Given the description of an element on the screen output the (x, y) to click on. 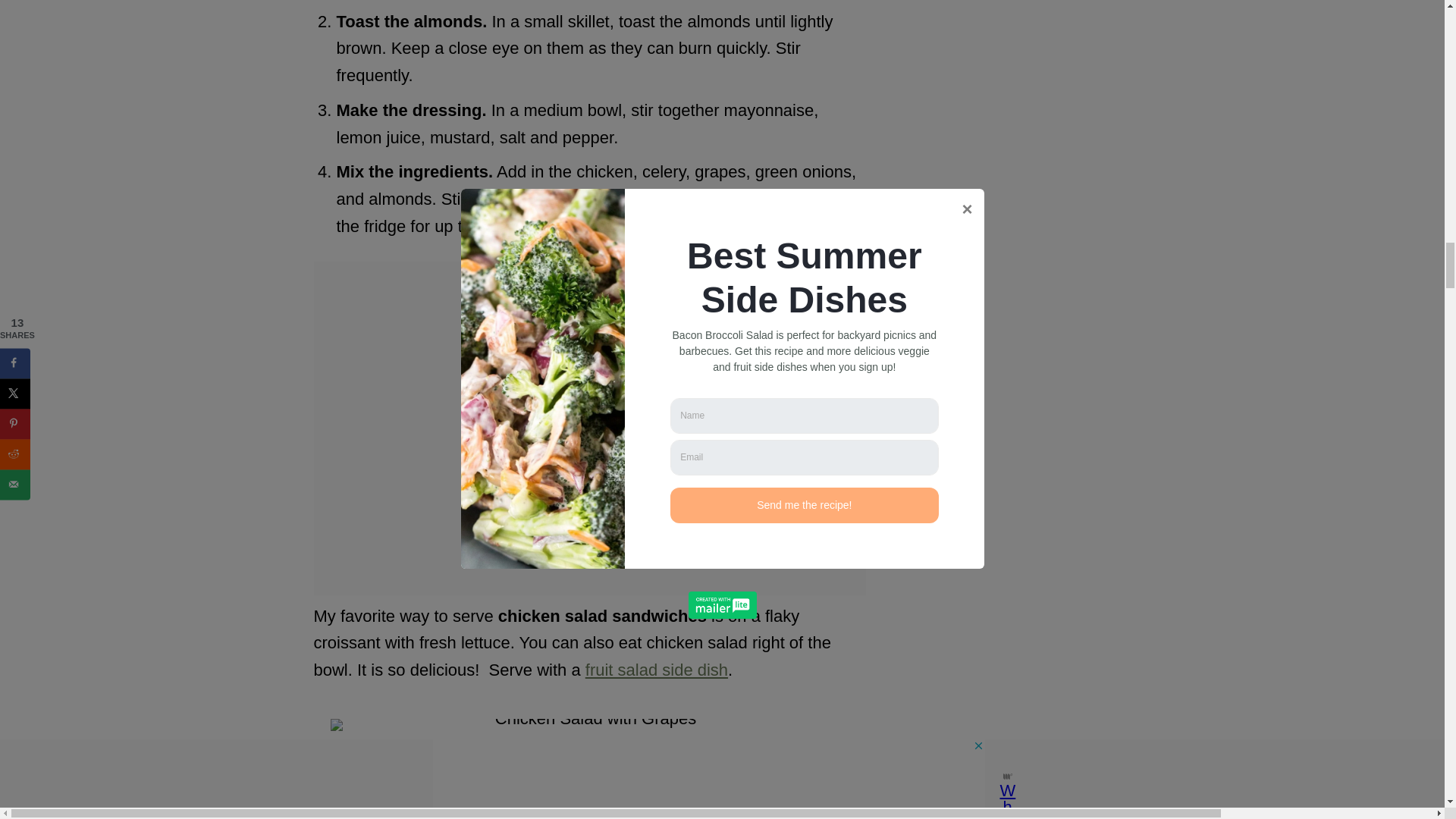
Chicken Salad with Grapes (589, 769)
